Given the description of an element on the screen output the (x, y) to click on. 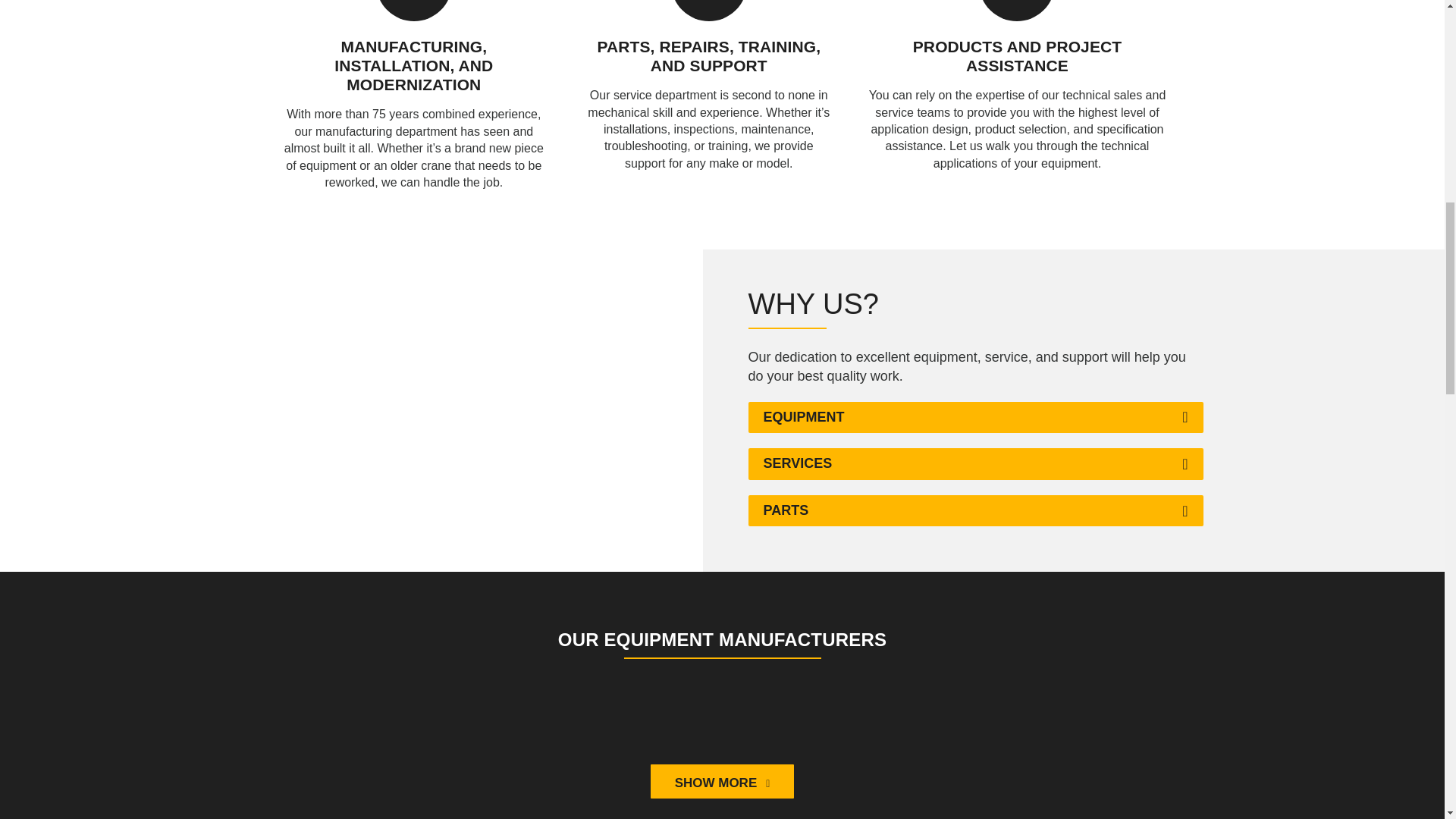
PARTS (785, 510)
SHOW MORE (722, 781)
SERVICES (797, 463)
EQUIPMENT (803, 417)
